Given the description of an element on the screen output the (x, y) to click on. 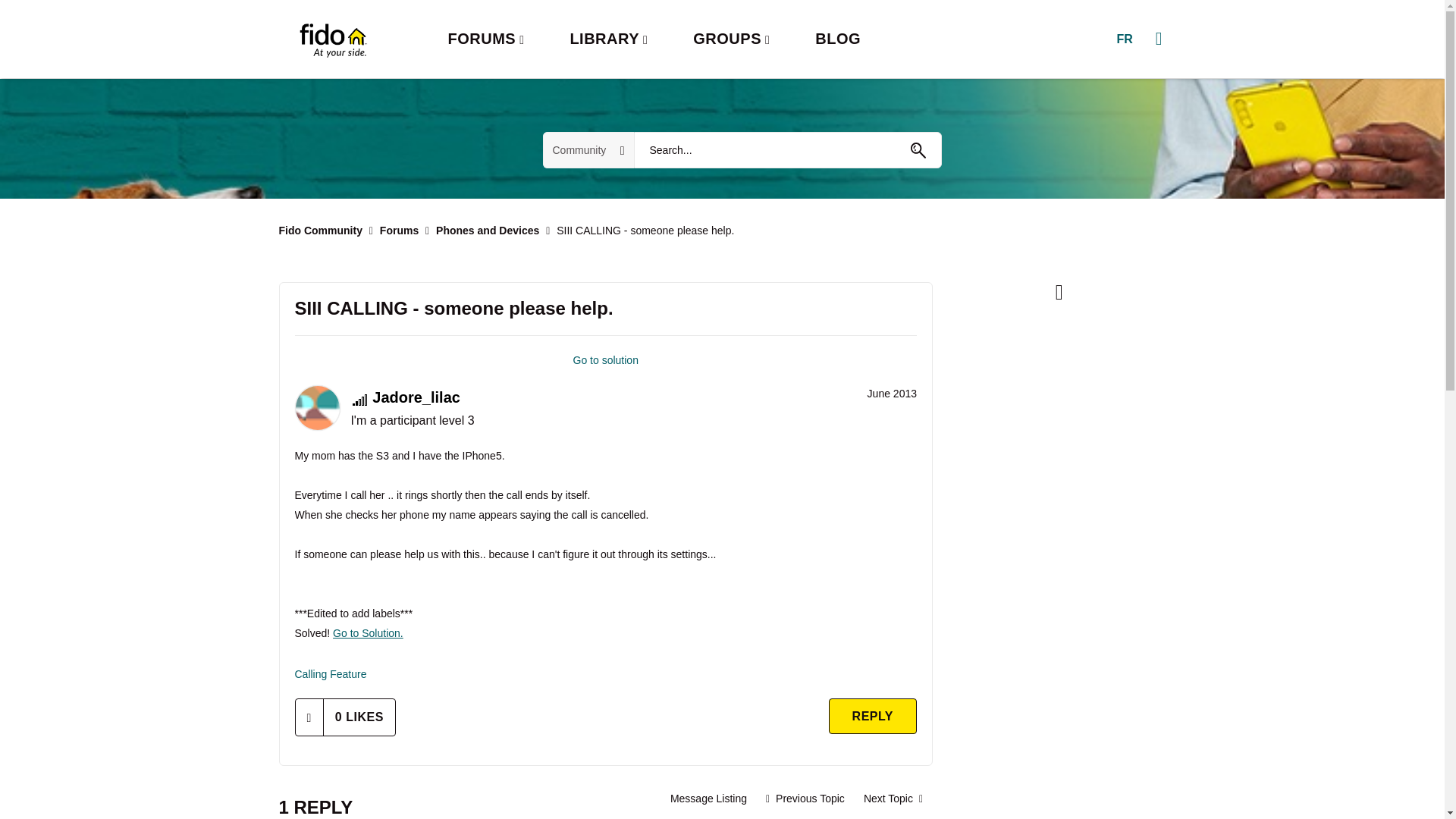
Fido Community (320, 230)
Fido (332, 39)
Go (917, 149)
LIBRARY (608, 39)
Go (917, 149)
Forums (399, 230)
Search Granularity (588, 149)
Search (787, 149)
FR (1124, 38)
Go to solution (606, 359)
